Given the description of an element on the screen output the (x, y) to click on. 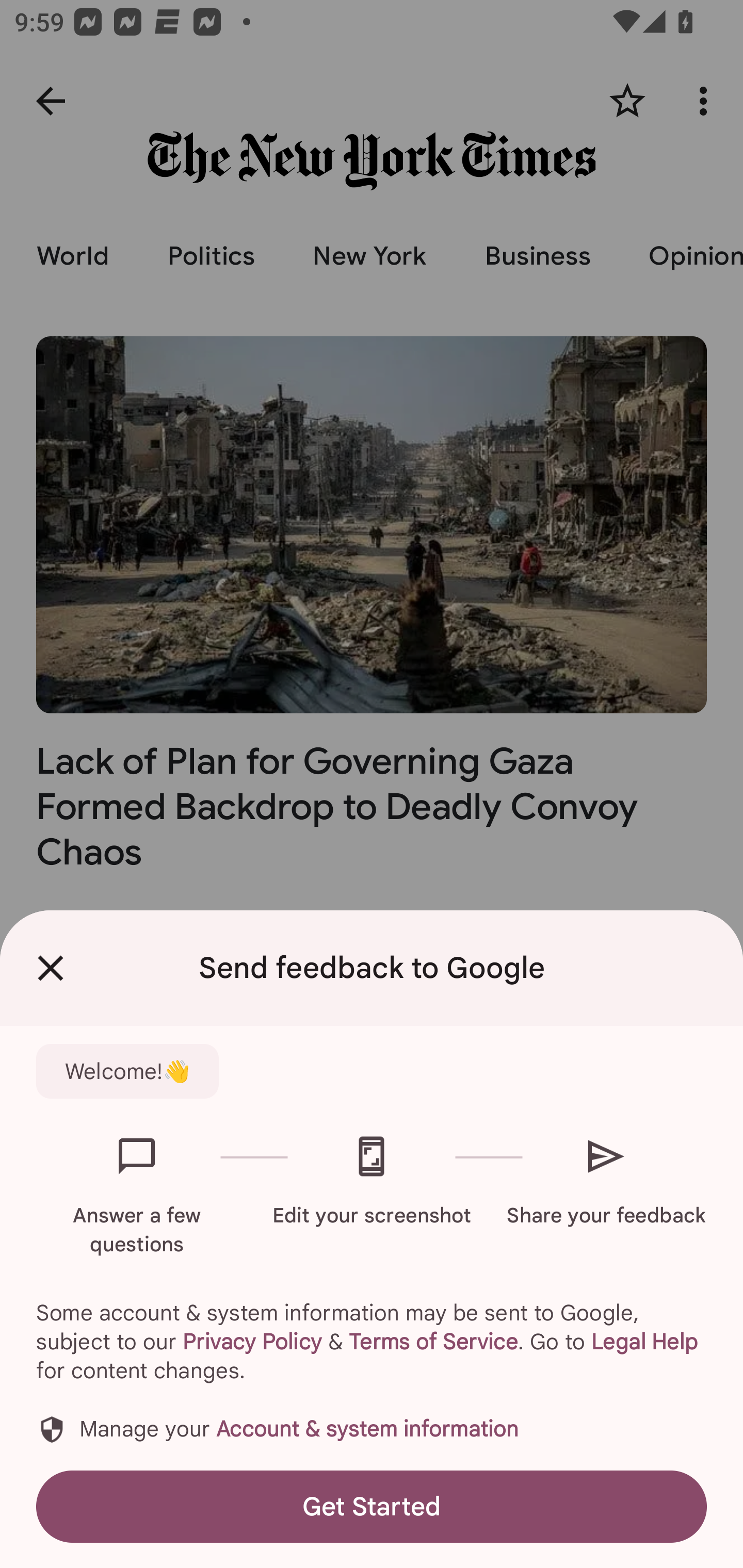
Close Feedback (50, 968)
Get Started (371, 1505)
